Given the description of an element on the screen output the (x, y) to click on. 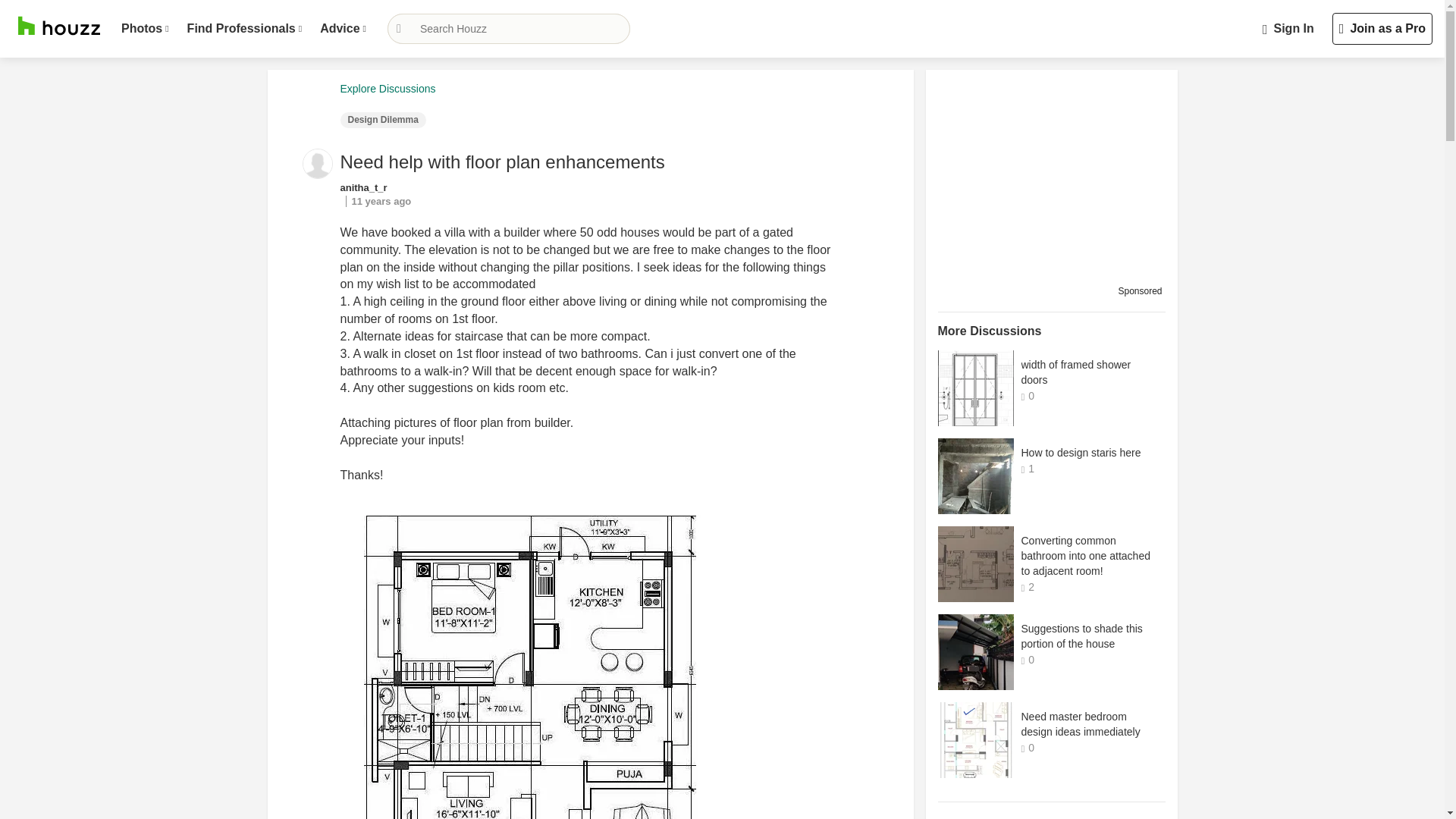
brand ad (1047, 173)
Photos (144, 28)
Find Professionals (244, 28)
Photos (144, 28)
FIND PROFESSIONALS (244, 28)
Advice (343, 28)
brand ad (1047, 813)
